Given the description of an element on the screen output the (x, y) to click on. 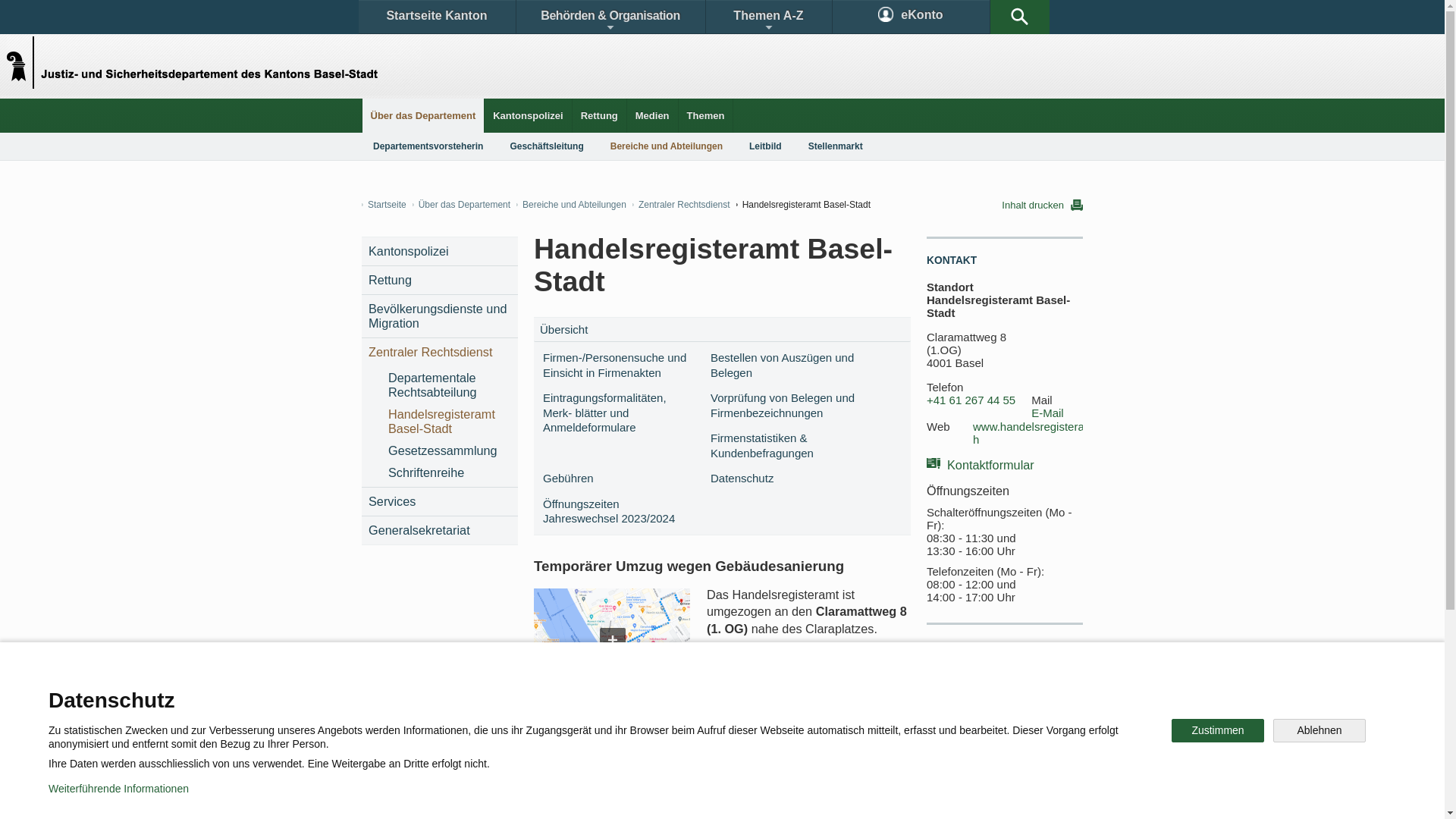
Medien Element type: text (652, 115)
E-Mail Element type: text (1047, 413)
Rettung Element type: text (439, 280)
Themen A-Z Element type: text (768, 17)
Gesetze Element type: text (597, 693)
Gesetzessammlung Element type: text (449, 450)
Zentraler Rechtsdienst Element type: text (439, 352)
Nutzungsregelungen Element type: text (542, 796)
Bild & Multimedia Element type: text (795, 693)
Instagram Element type: text (738, 746)
Facebook Element type: text (547, 746)
YouTube Element type: text (839, 746)
Datenschutz Element type: text (788, 478)
Impressum Element type: text (648, 796)
www.handelsregisteramt.bs.ch Element type: text (1047, 433)
Departementale Rechtsabteilung Element type: text (449, 385)
eKonto Element type: text (910, 17)
Firmenstatistiken & Kundenbefragungen Element type: text (788, 445)
Kantonspolizei Element type: text (439, 251)
Generalsekretariat Element type: text (439, 530)
Startseite Element type: text (383, 204)
Firmen-/Personensuche und Einsicht in Firmenakten Element type: text (620, 365)
Inhalt drucken Element type: text (1041, 204)
Departementsvorsteherin Element type: text (427, 145)
Rettung Element type: text (599, 115)
Twitter Element type: text (642, 746)
Zustimmen Element type: text (1217, 730)
Services Element type: text (439, 501)
+41 61 267 44 55 Element type: text (970, 400)
Schriftenreihe Element type: text (449, 472)
Leitbild Element type: text (765, 145)
Themen Element type: text (705, 115)
Kantonspolizei Element type: text (527, 115)
Startseite Kanton Element type: text (435, 17)
Bereiche und Abteilungen Element type: text (571, 204)
Kontaktformular Element type: text (980, 464)
Zur mobilen Ansicht Element type: text (752, 796)
Ablehnen Element type: text (1319, 730)
Kontakt Element type: text (406, 693)
Statistiken Element type: text (687, 693)
Bereiche und Abteilungen Element type: text (666, 145)
Stadtplan & Karte Element type: text (504, 693)
Zentraler Rechtsdienst Element type: text (681, 204)
Stellenmarkt Element type: text (835, 145)
